Given the description of an element on the screen output the (x, y) to click on. 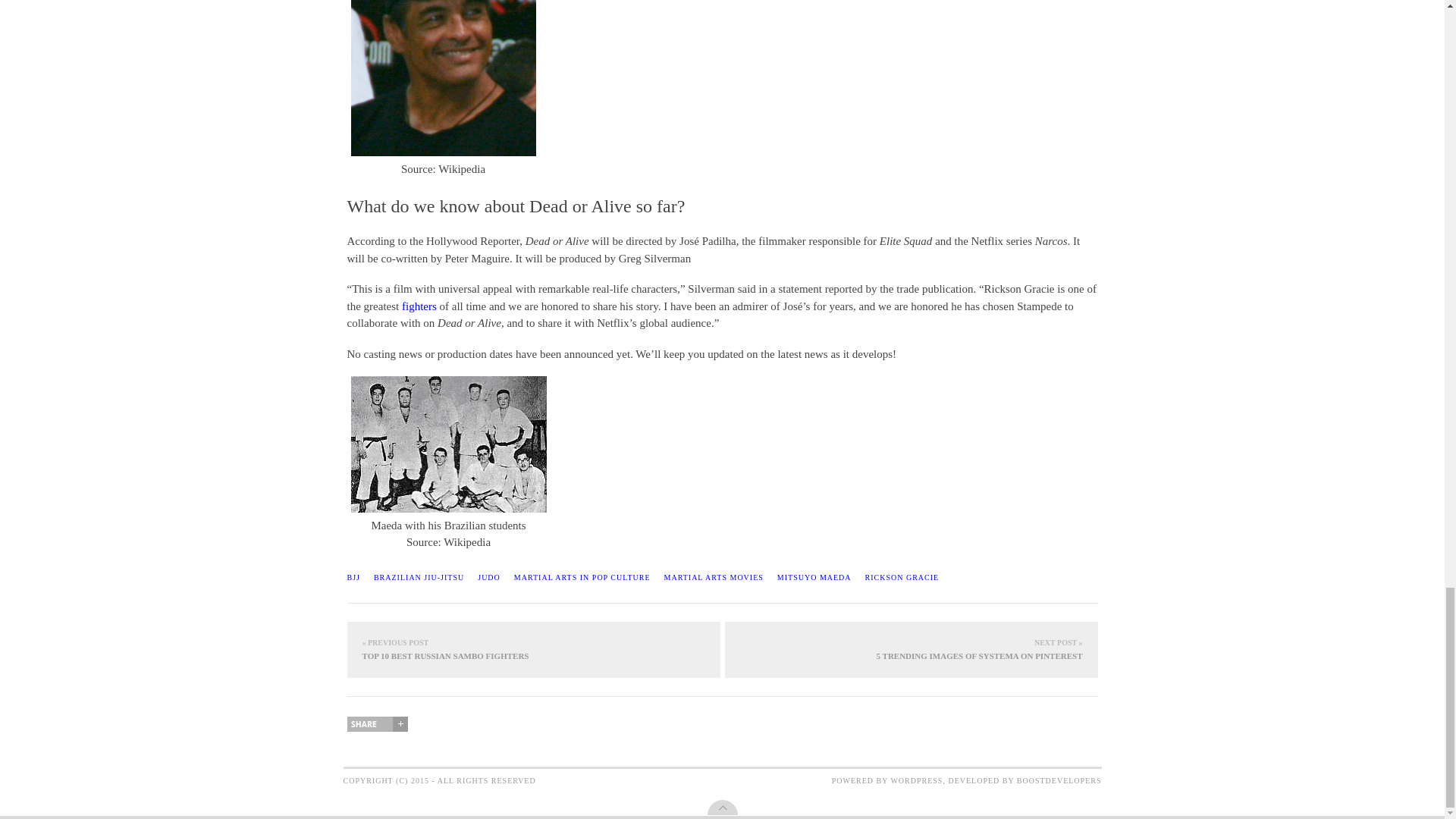
JUDO (488, 577)
RICKSON GRACIE (901, 577)
fighters (418, 306)
Show Footer (721, 807)
MITSUYO MAEDA (814, 577)
BRAZILIAN JIU-JITSU (419, 577)
MARTIAL ARTS MOVIES (712, 577)
MARTIAL ARTS IN POP CULTURE (581, 577)
